Given the description of an element on the screen output the (x, y) to click on. 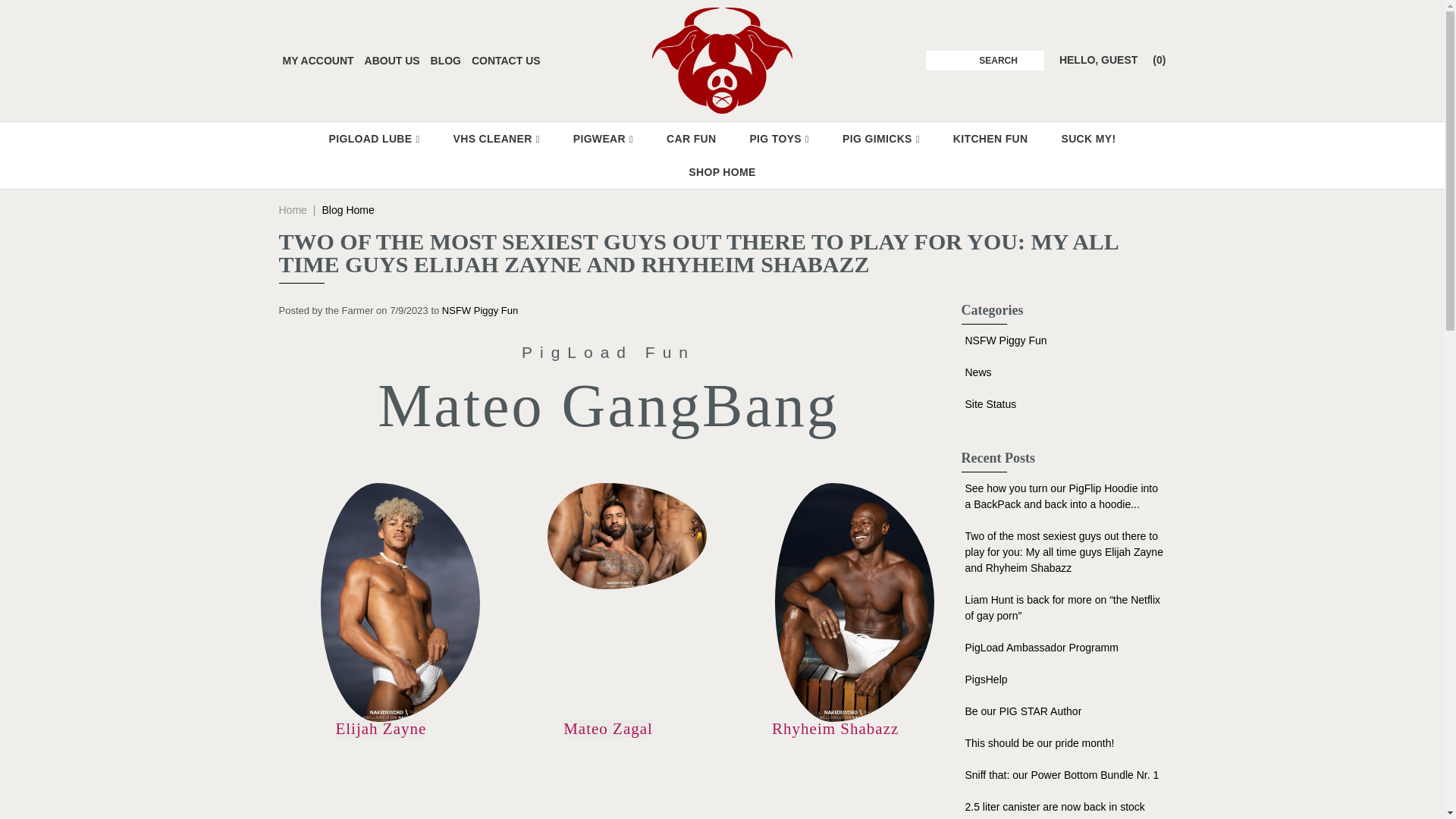
HOME (722, 60)
NSFW Piggy Fun (480, 310)
MY ACCOUNT (317, 60)
Blog Home (347, 209)
PigLoad.com (722, 60)
BLOG (445, 60)
KITCHEN FUN (990, 138)
SUCK MY! (1088, 138)
CONTACT US (505, 60)
SHOP HOME (721, 172)
